Given the description of an element on the screen output the (x, y) to click on. 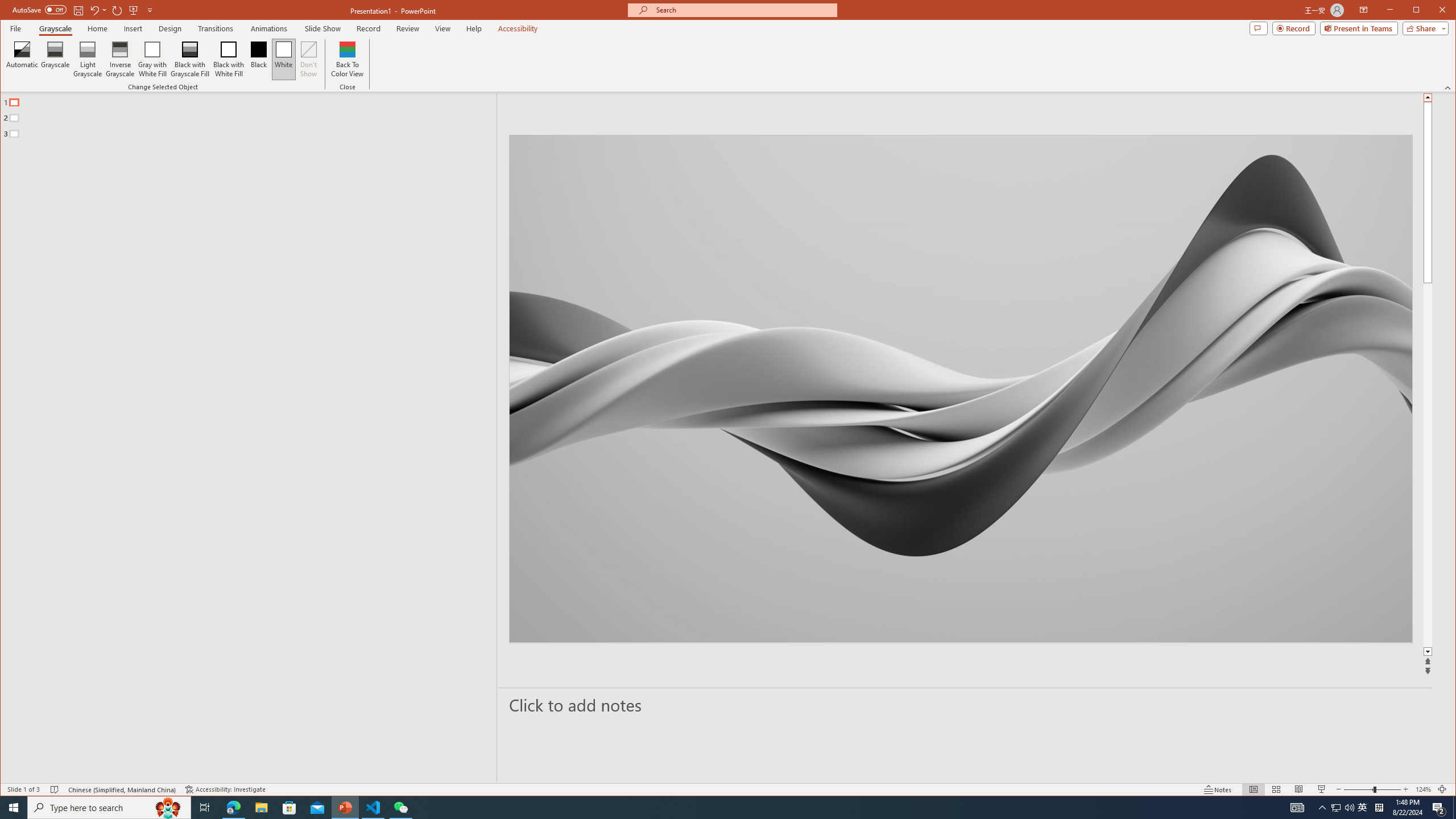
Tray Input Indicator - Chinese (Simplified, China) (1378, 807)
Class: MsoCommandBar (728, 789)
Minimize (1335, 807)
Microsoft search (1419, 11)
Ribbon Display Options (742, 10)
Comments (1364, 9)
Maximize (1258, 28)
Zoom In (1432, 11)
Task View (1405, 789)
